Given the description of an element on the screen output the (x, y) to click on. 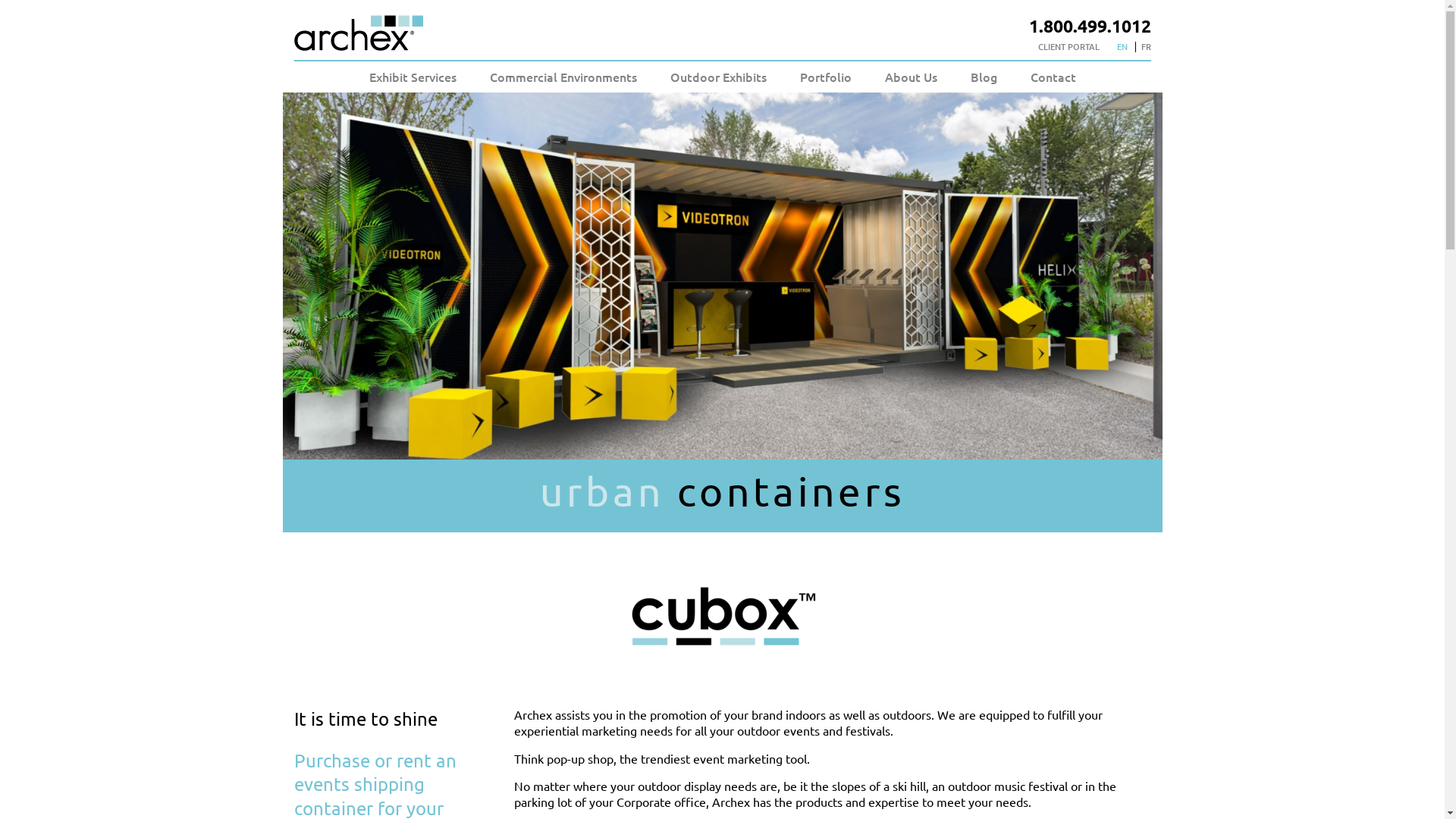
Commercial Environments Element type: text (563, 76)
Portfolio Element type: text (825, 76)
Blog Element type: text (983, 76)
CLIENT PORTAL Element type: text (1067, 46)
About Us Element type: text (910, 76)
Contact Element type: text (1052, 76)
FR Element type: text (1145, 46)
Exhibit Services Element type: text (411, 76)
EN Element type: text (1121, 46)
Cubox Element type: hover (721, 617)
Outdoor Exhibits Element type: text (718, 76)
1.800.499.1012 Element type: text (1089, 26)
